Given the description of an element on the screen output the (x, y) to click on. 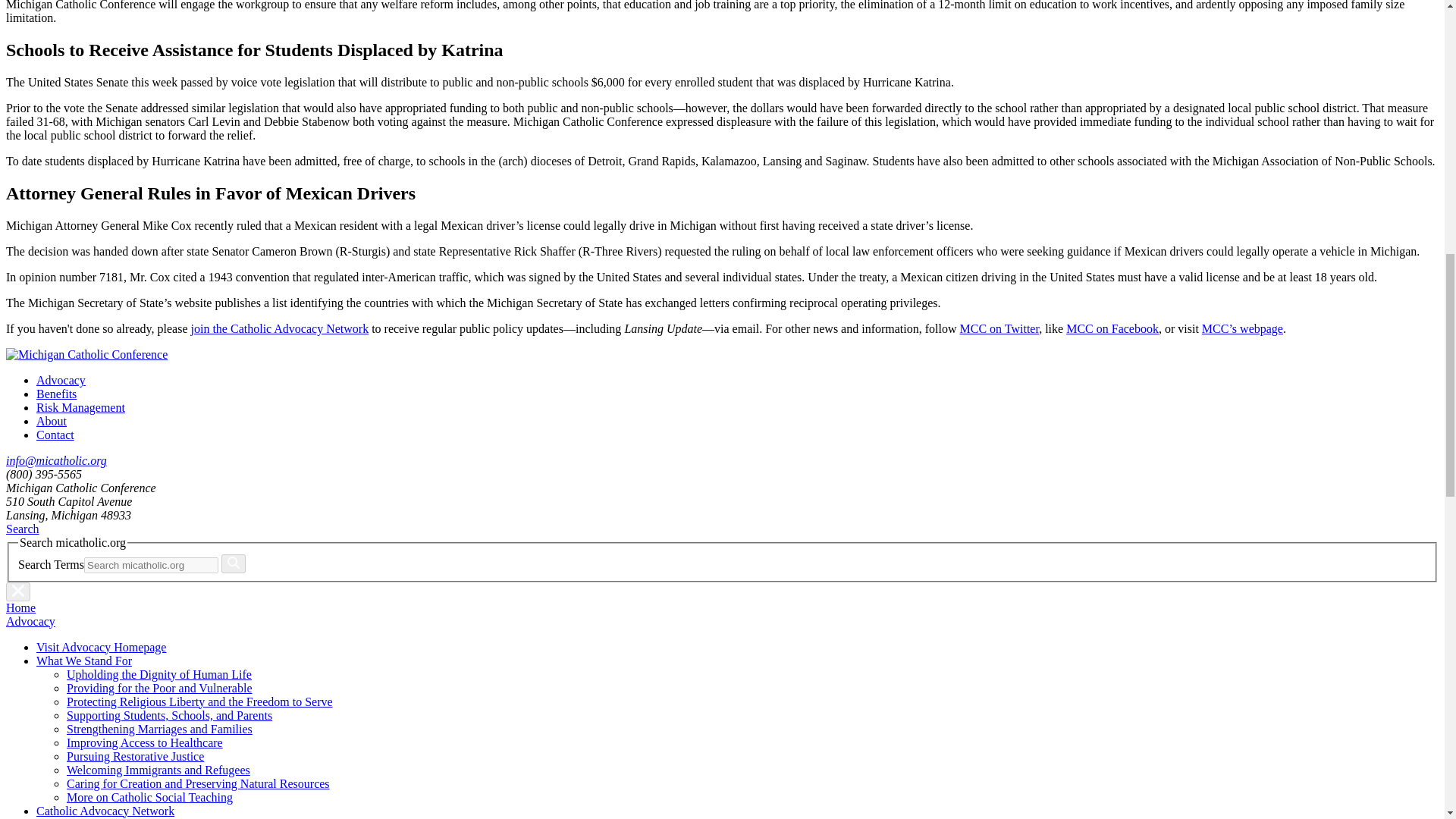
MCC on Facebook (1111, 328)
Visit Advocacy Homepage (100, 646)
Risk Management (80, 407)
Advocacy (30, 621)
Benefits (56, 393)
Home (19, 607)
join the Catholic Advocacy Network (279, 328)
Search (22, 528)
MCC on Twitter (999, 328)
About (51, 420)
Contact (55, 434)
Advocacy (60, 379)
